Given the description of an element on the screen output the (x, y) to click on. 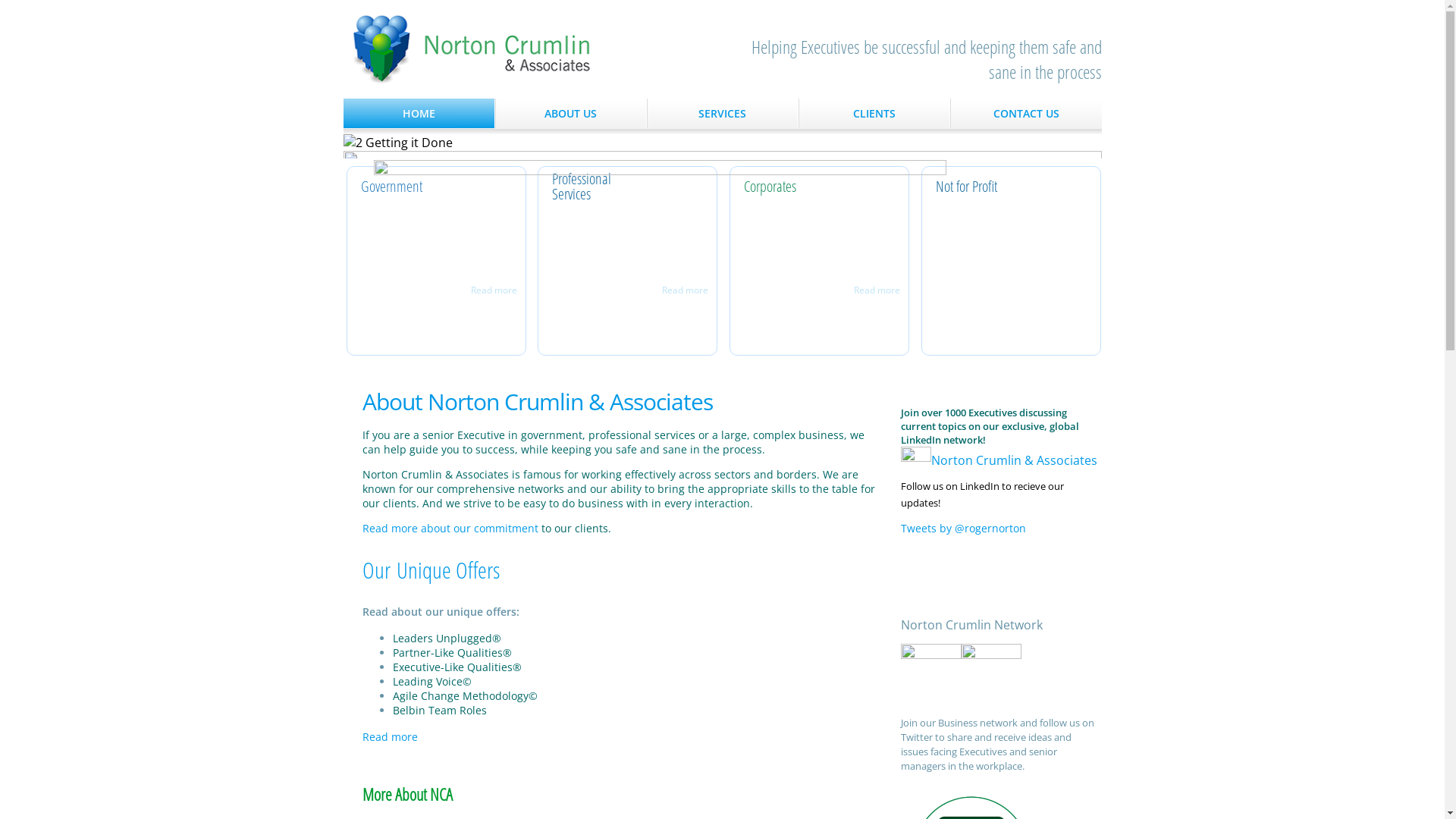
CLIENTS Element type: text (874, 113)
Norton Crumlin & Associates Element type: text (998, 459)
Tweets by @rogernorton Element type: text (963, 527)
SERVICES Element type: text (722, 113)
Read more Element type: text (873, 289)
Read more about our commitment Element type: text (450, 527)
ABOUT US Element type: text (570, 113)
Norton Crumlin & Associates Element type: hover (472, 49)
Read more Element type: text (489, 289)
CONTACT US Element type: text (1025, 113)
2 Getting it Done Element type: hover (396, 142)
Read more Element type: text (681, 289)
HOME Element type: text (417, 113)
Read more Element type: text (389, 736)
